Given the description of an element on the screen output the (x, y) to click on. 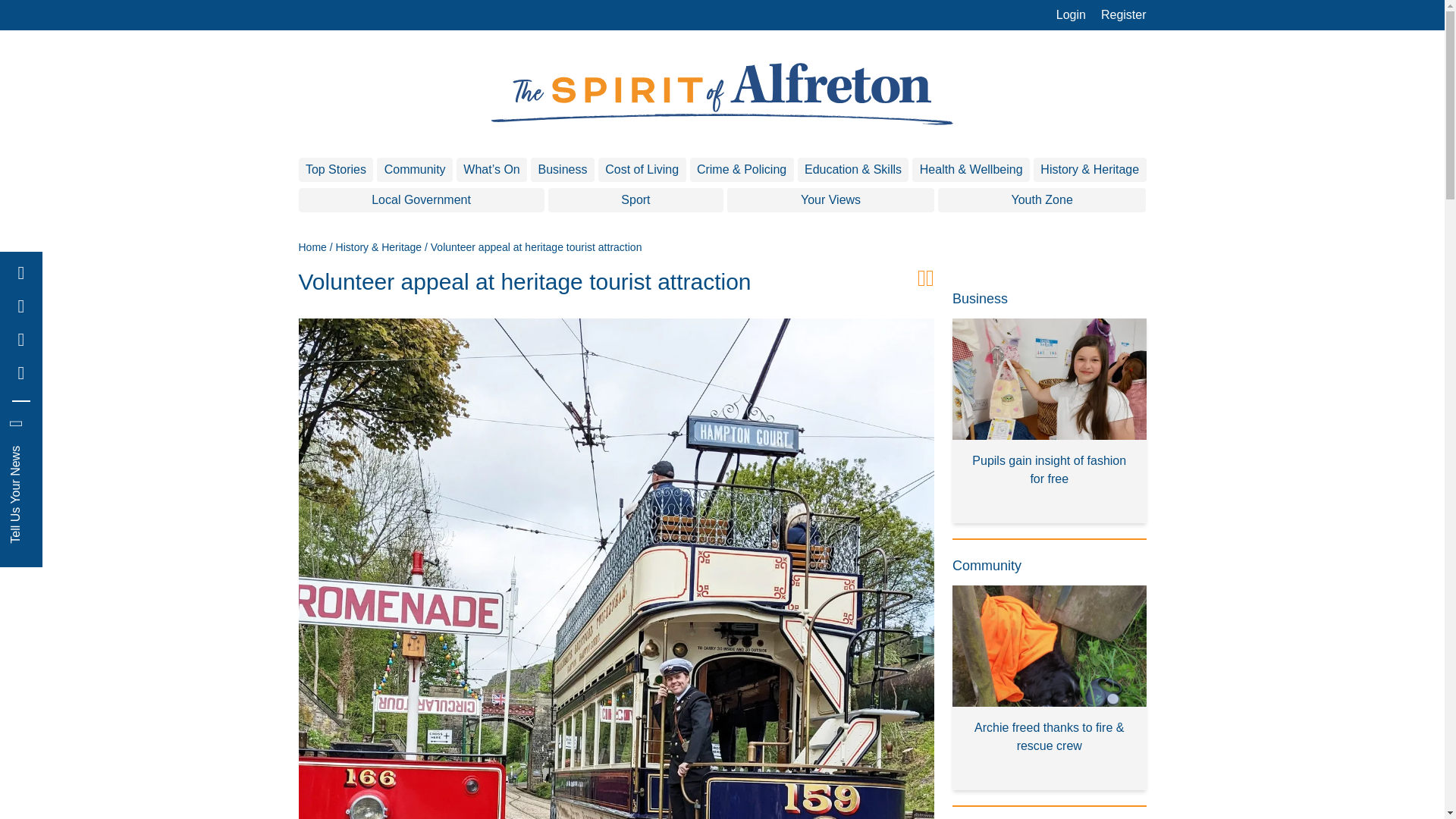
Local Government (421, 200)
Your Views (830, 200)
Prev (930, 286)
Community (414, 169)
Register (1123, 14)
Home (312, 246)
Youth Zone (1042, 200)
Top Stories (336, 169)
Login (1071, 14)
Pupils gain insight of fashion for free (1049, 420)
Cost of Living (641, 169)
Business (562, 169)
The Spirit of Alfreton (721, 93)
Prev (921, 286)
Sport (635, 200)
